Given the description of an element on the screen output the (x, y) to click on. 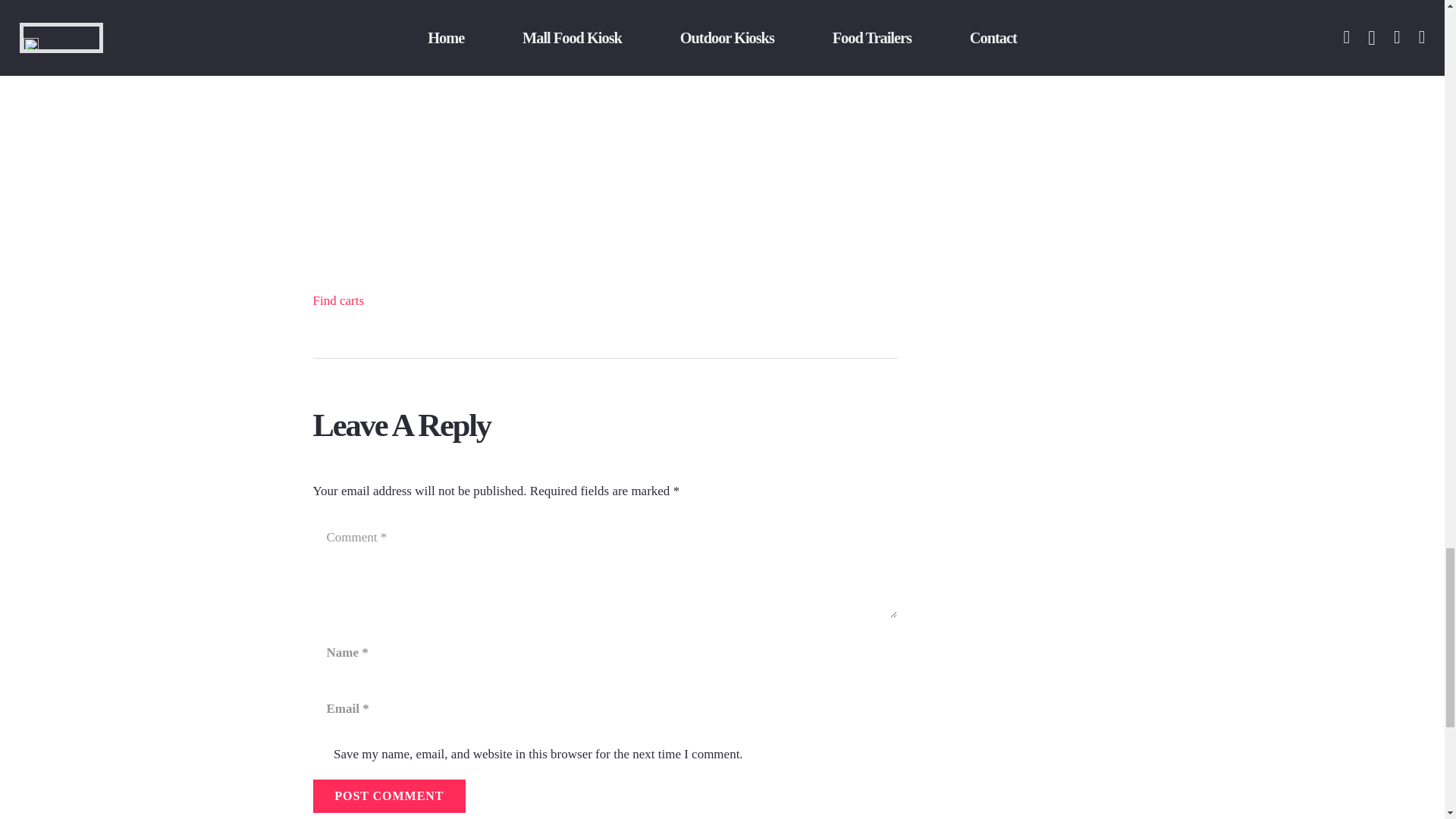
1 (321, 755)
